Given the description of an element on the screen output the (x, y) to click on. 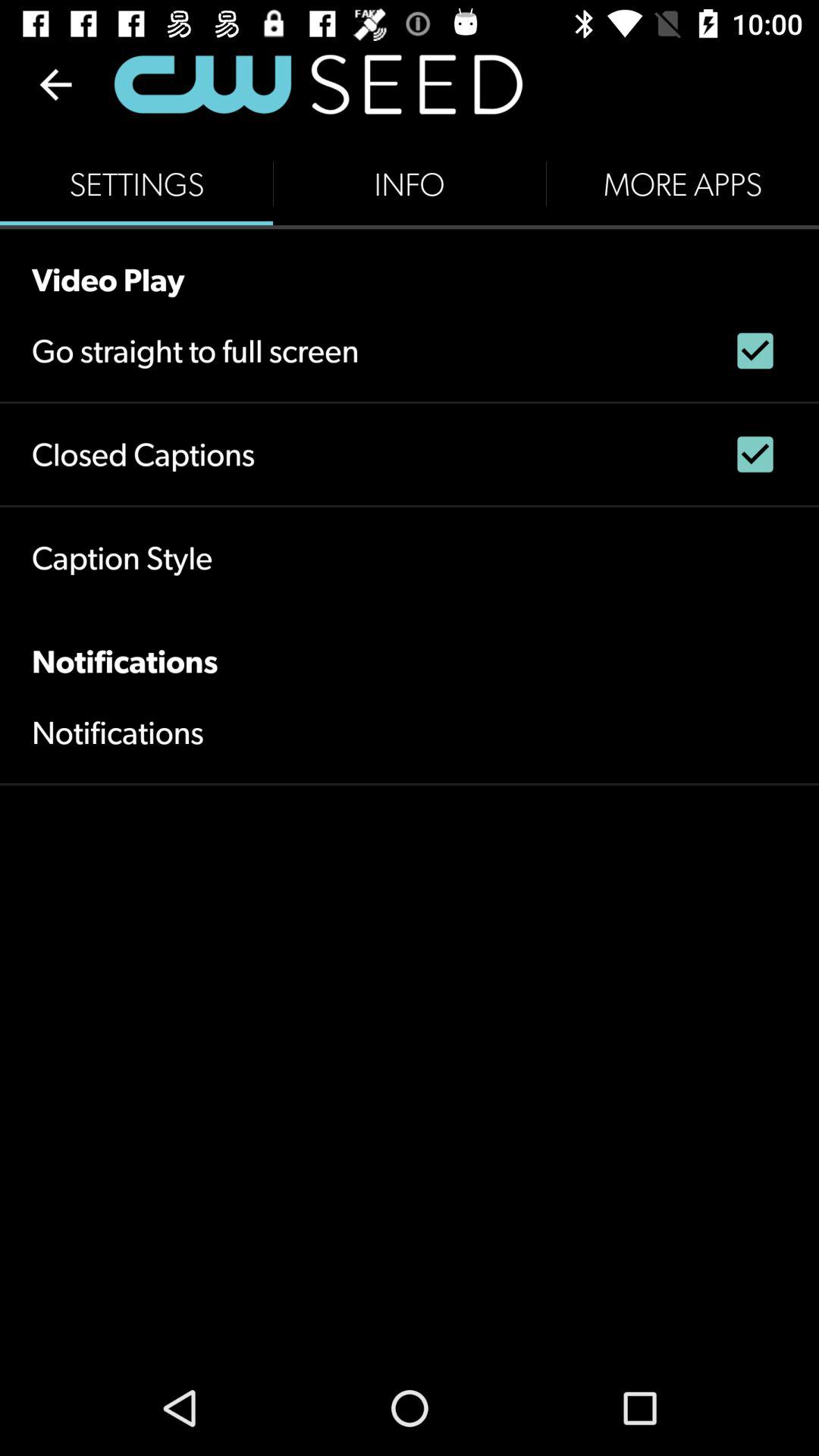
turn on item above the video play icon (682, 184)
